Given the description of an element on the screen output the (x, y) to click on. 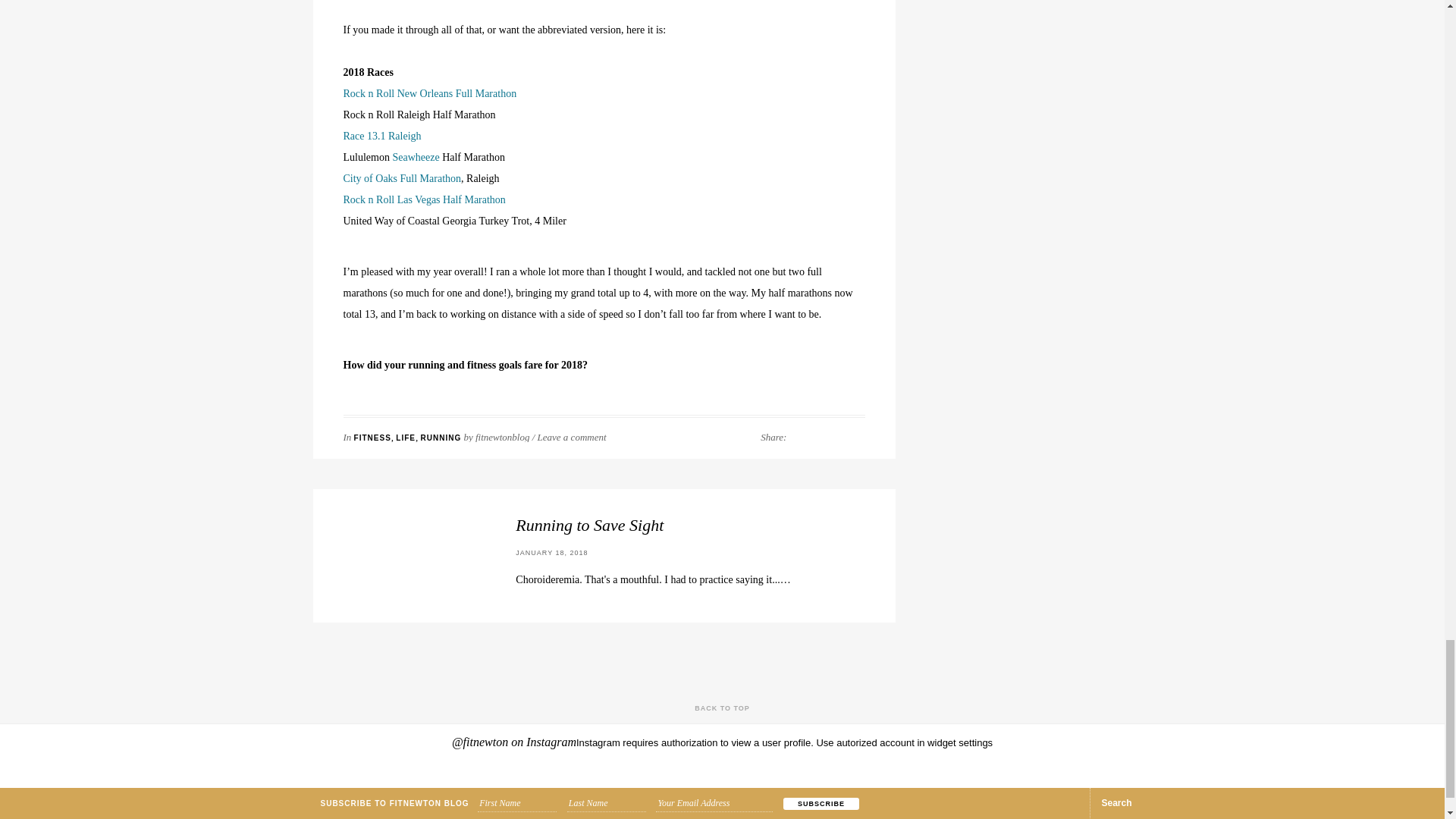
Posts by fitnewtonblog (502, 437)
Seawheeze (416, 156)
FITNESS (372, 438)
City of Oaks Full Marathon (401, 178)
RUNNING (440, 438)
Rock n Roll Las Vegas Half Marathon (423, 199)
Leave a comment (572, 437)
LIFE (405, 438)
Rock n Roll New Orleans Full Marathon (429, 93)
Running to Save Sight (652, 525)
fitnewtonblog (502, 437)
Race 13.1 Raleigh  (382, 135)
